Given the description of an element on the screen output the (x, y) to click on. 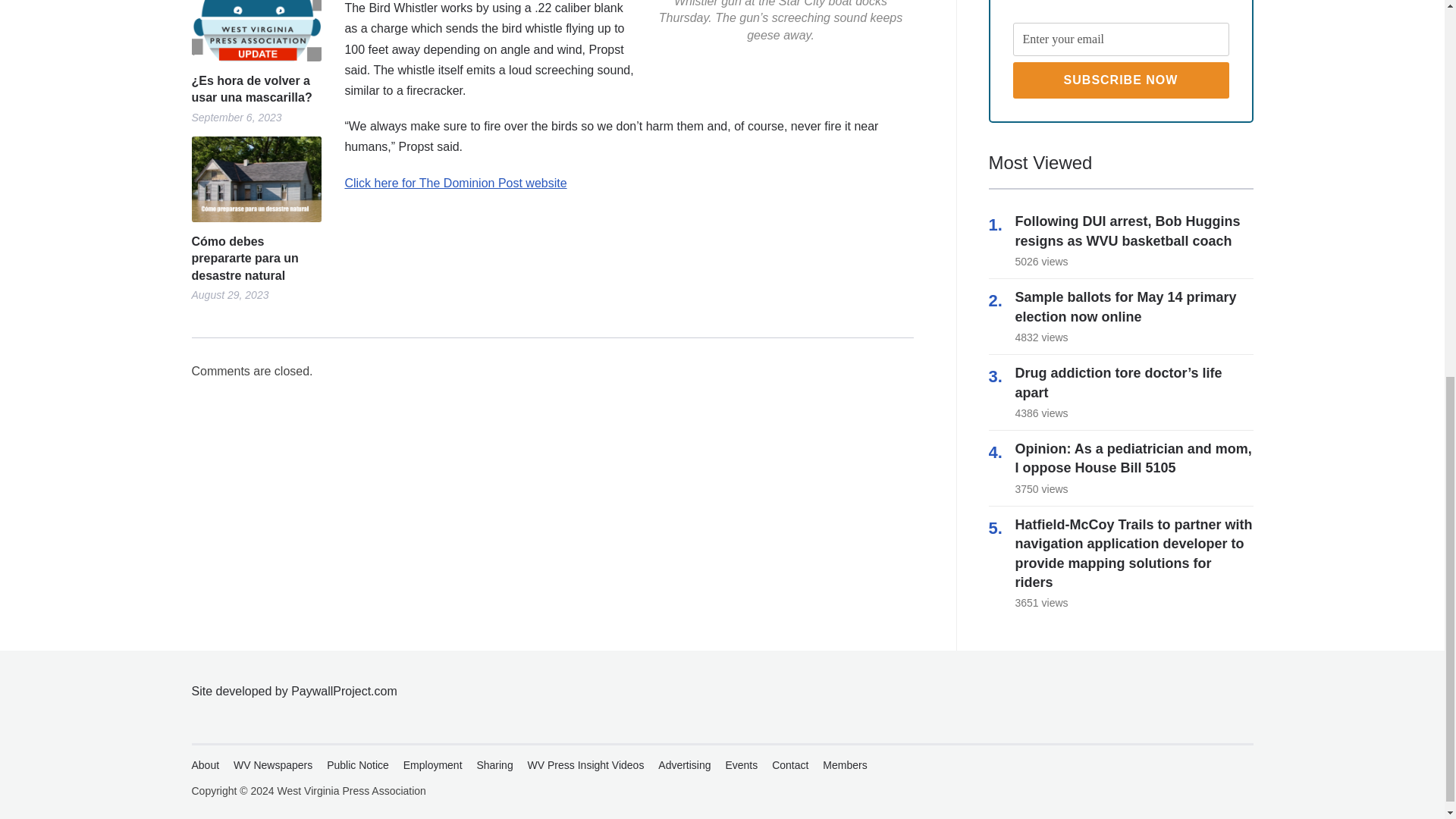
Subscribe Now (1120, 80)
